Given the description of an element on the screen output the (x, y) to click on. 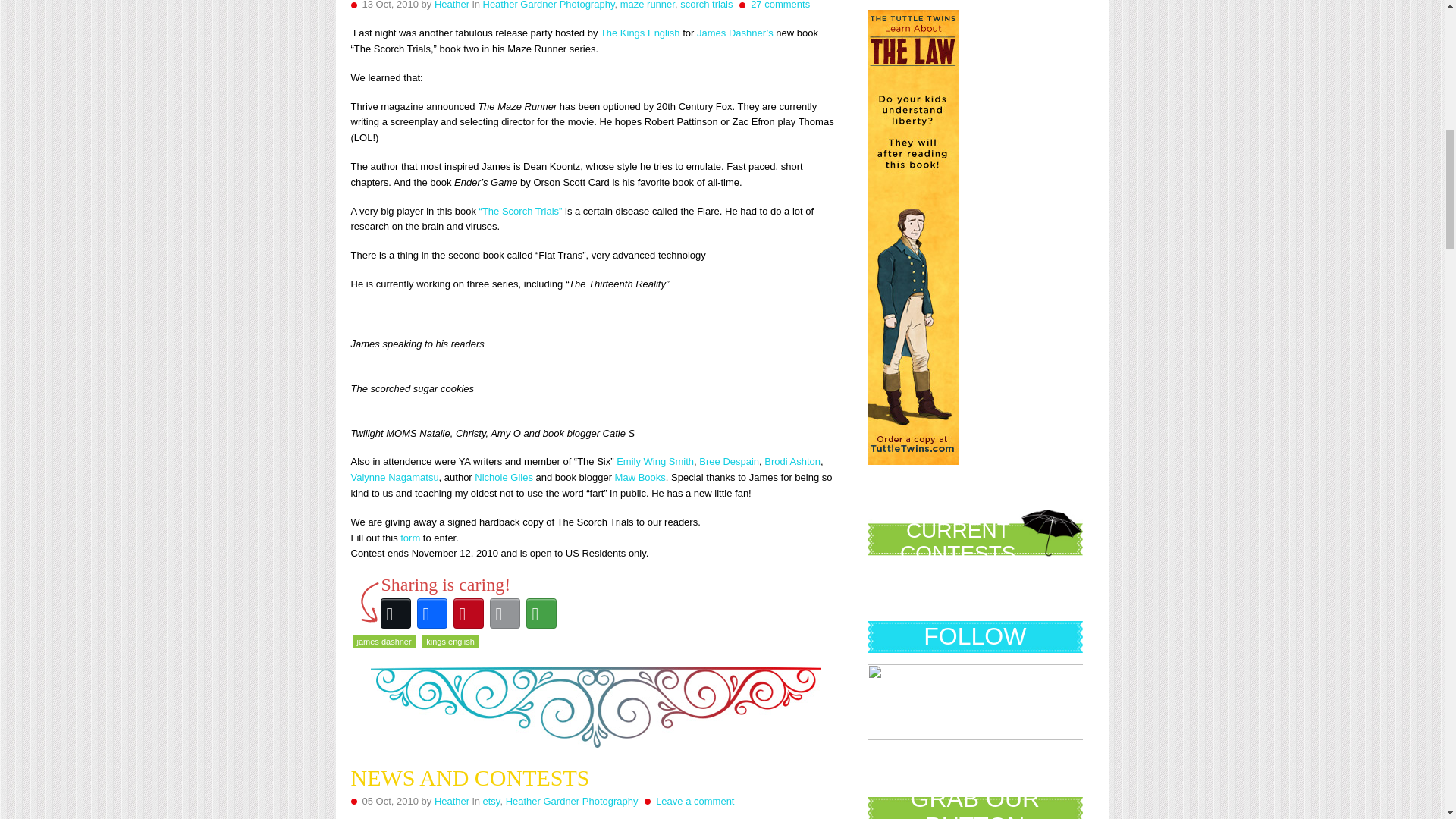
More Options (540, 613)
Posts by Heather (450, 4)
Facebook (431, 613)
Posts by Heather (450, 800)
Pinterest (467, 613)
News and Contests (469, 777)
Email This (504, 613)
